Given the description of an element on the screen output the (x, y) to click on. 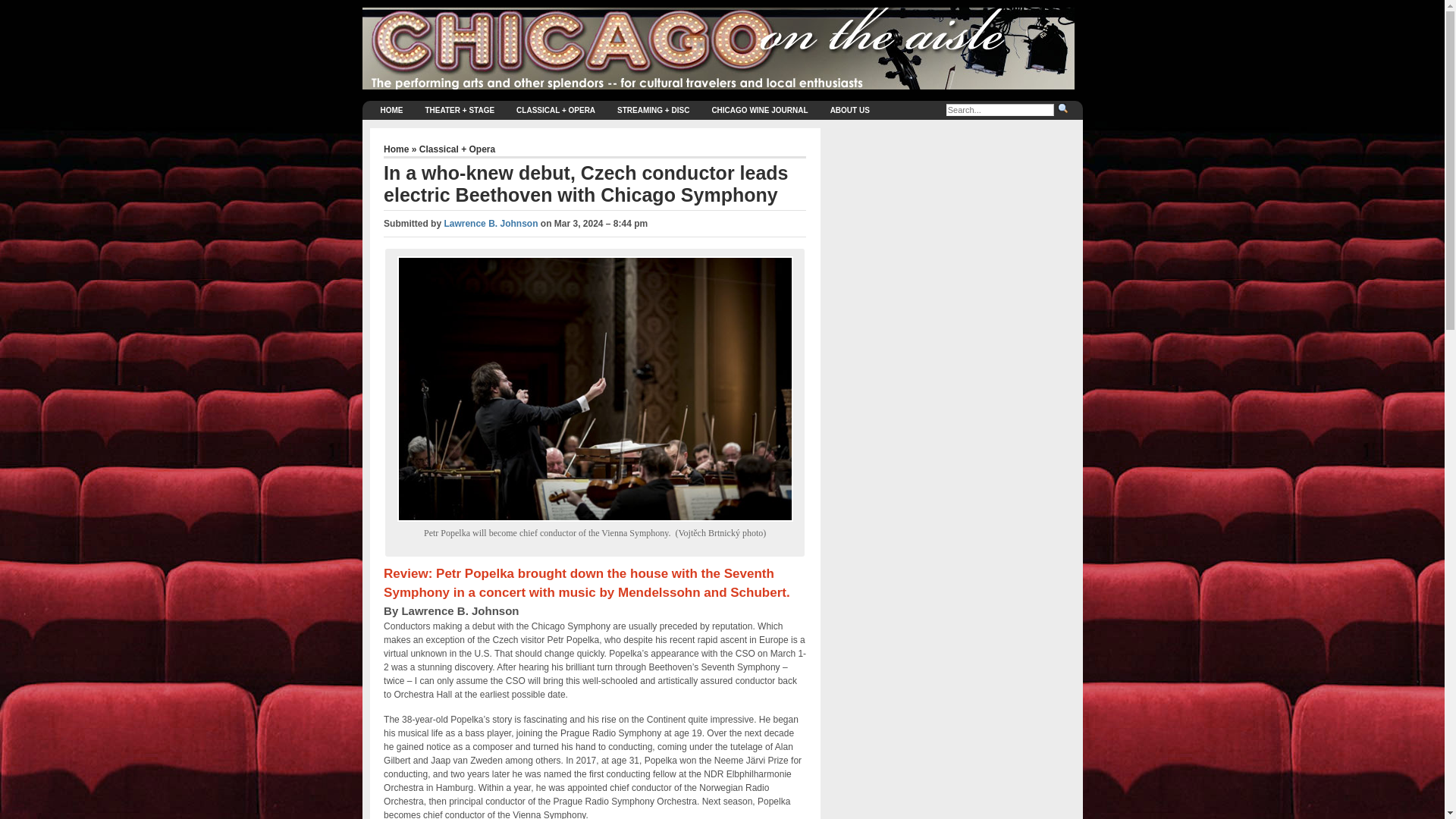
Home (398, 149)
CHICAGO WINE JOURNAL (759, 109)
Discs, streams, apps, arts on demand (653, 109)
Posts by Lawrence B. Johnson (490, 223)
Plays, musicals, dance and show people (459, 109)
Concert, opera, artists, composers, commentary (555, 109)
ABOUT US (849, 109)
Lawrence B. Johnson (490, 223)
HOME (391, 109)
